Given the description of an element on the screen output the (x, y) to click on. 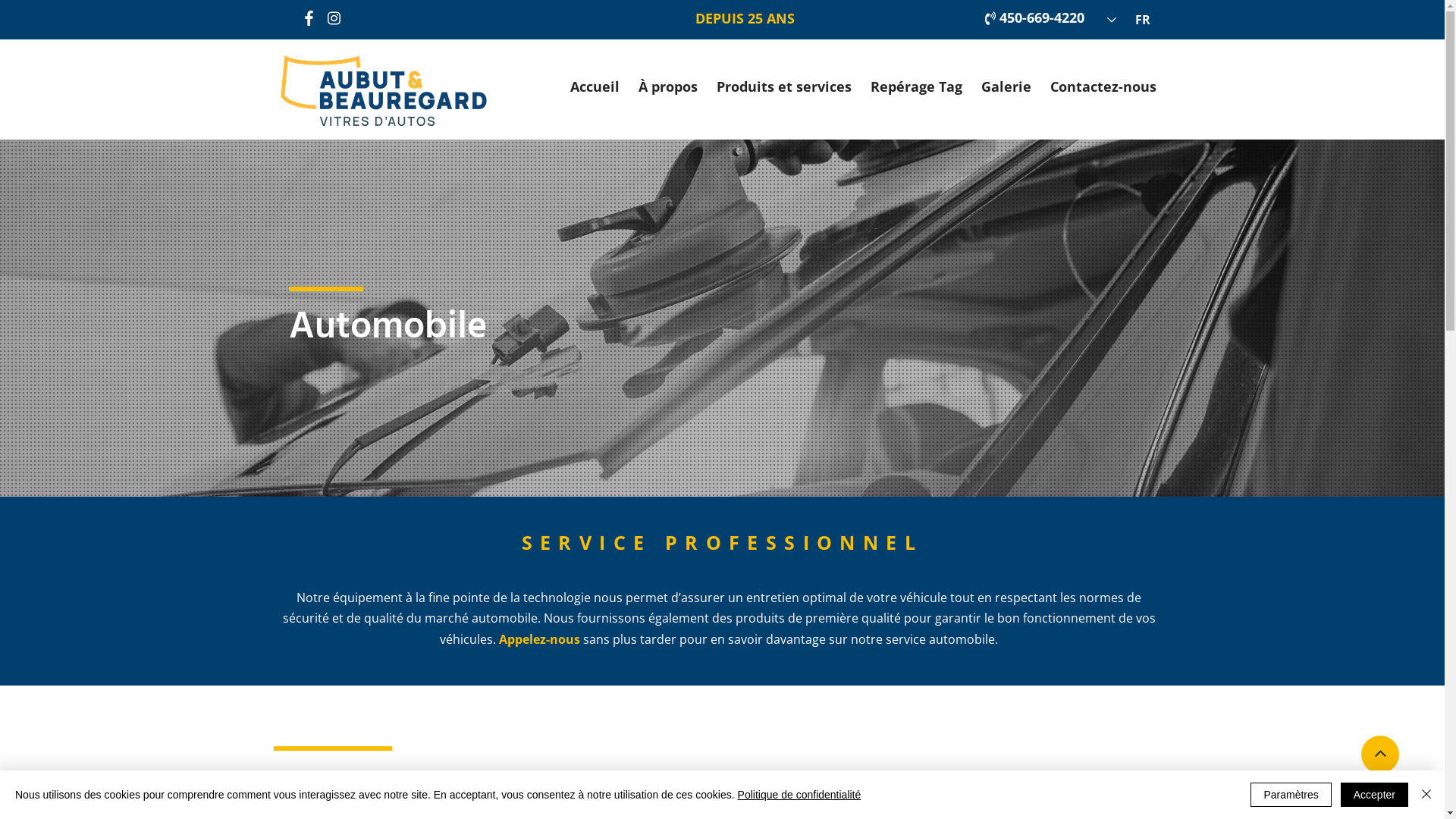
Contactez-nous Element type: text (1103, 88)
Accepter Element type: text (1374, 794)
Accueil Element type: text (594, 88)
Galerie Element type: text (1006, 88)
Appelez-nous Element type: text (539, 641)
450-669-4220 Element type: text (1041, 19)
